Given the description of an element on the screen output the (x, y) to click on. 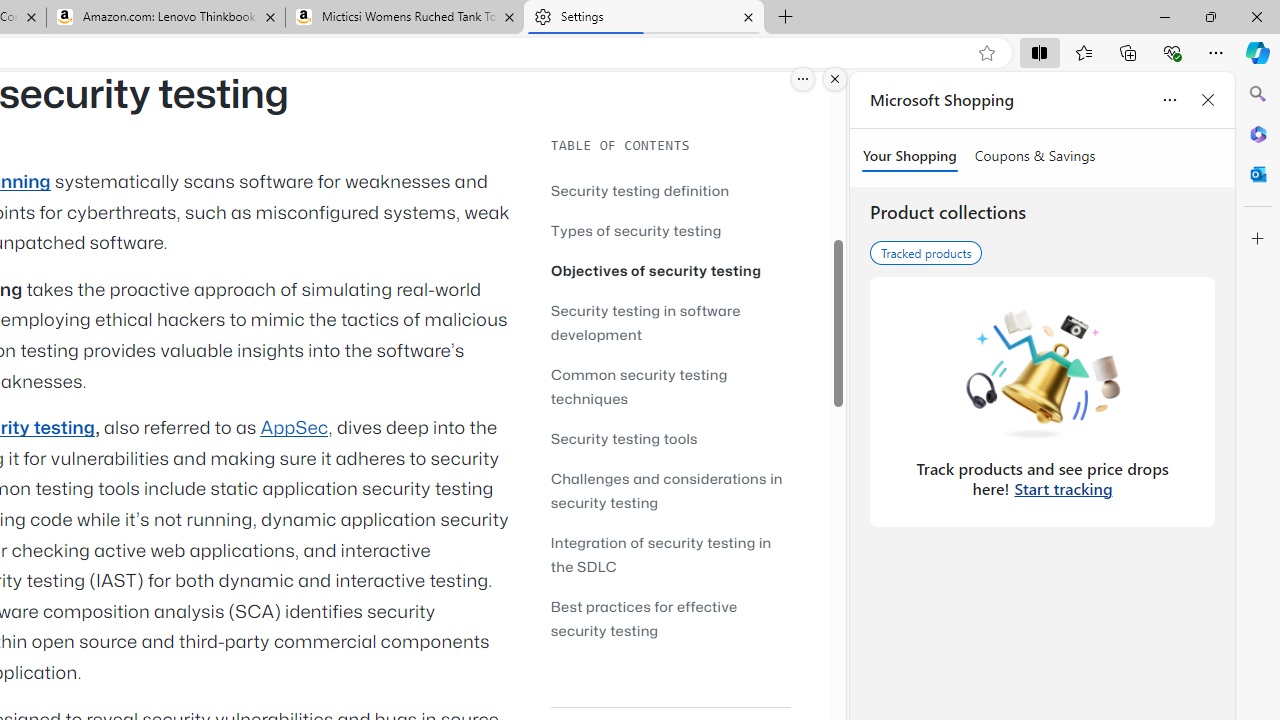
Common security testing techniques (639, 385)
Close split screen. (835, 79)
More options. (803, 79)
Security testing in software development (670, 322)
Objectives of security testing (670, 269)
